Given the description of an element on the screen output the (x, y) to click on. 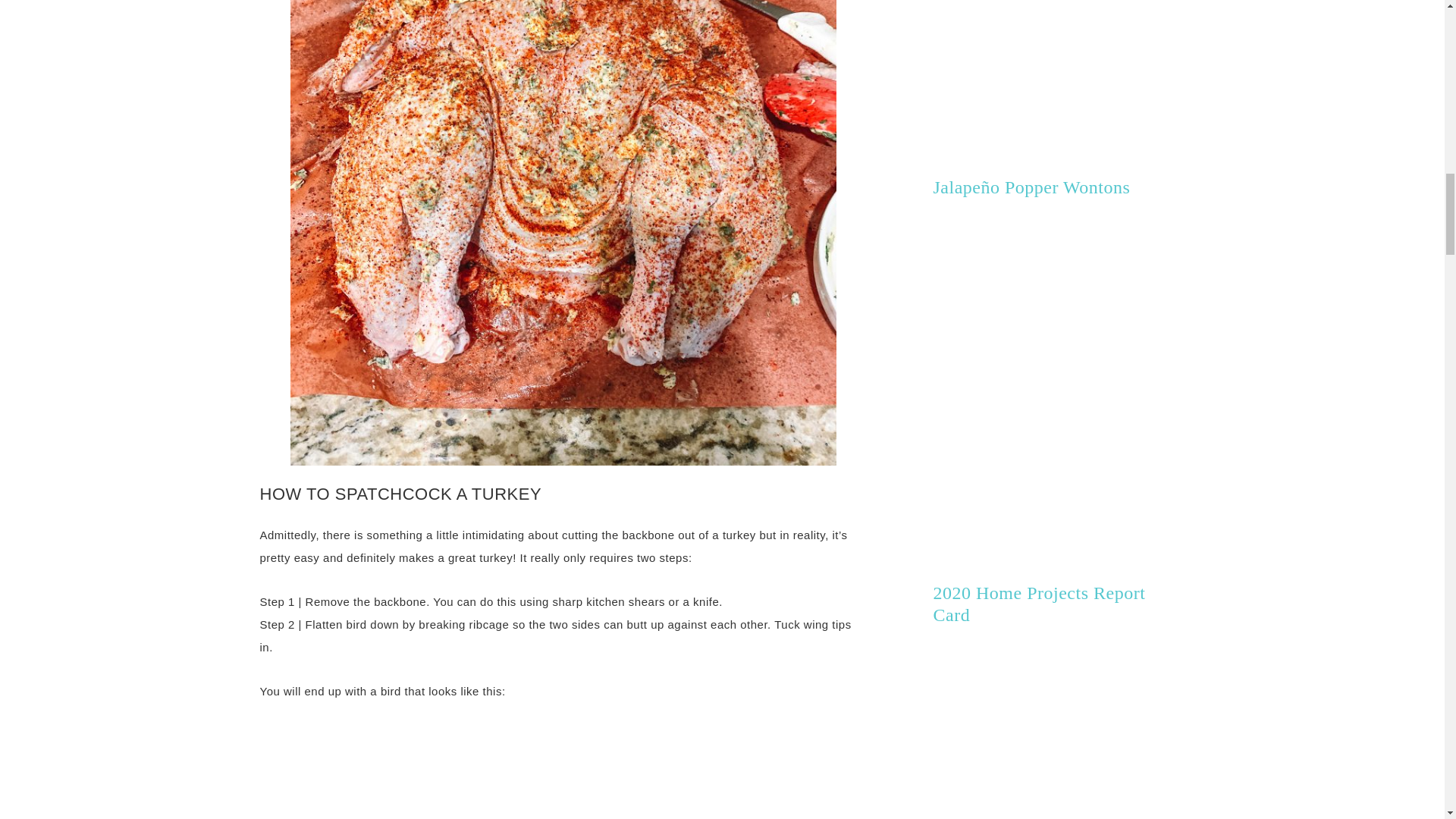
2020 Home Projects Report Card (1038, 603)
